Given the description of an element on the screen output the (x, y) to click on. 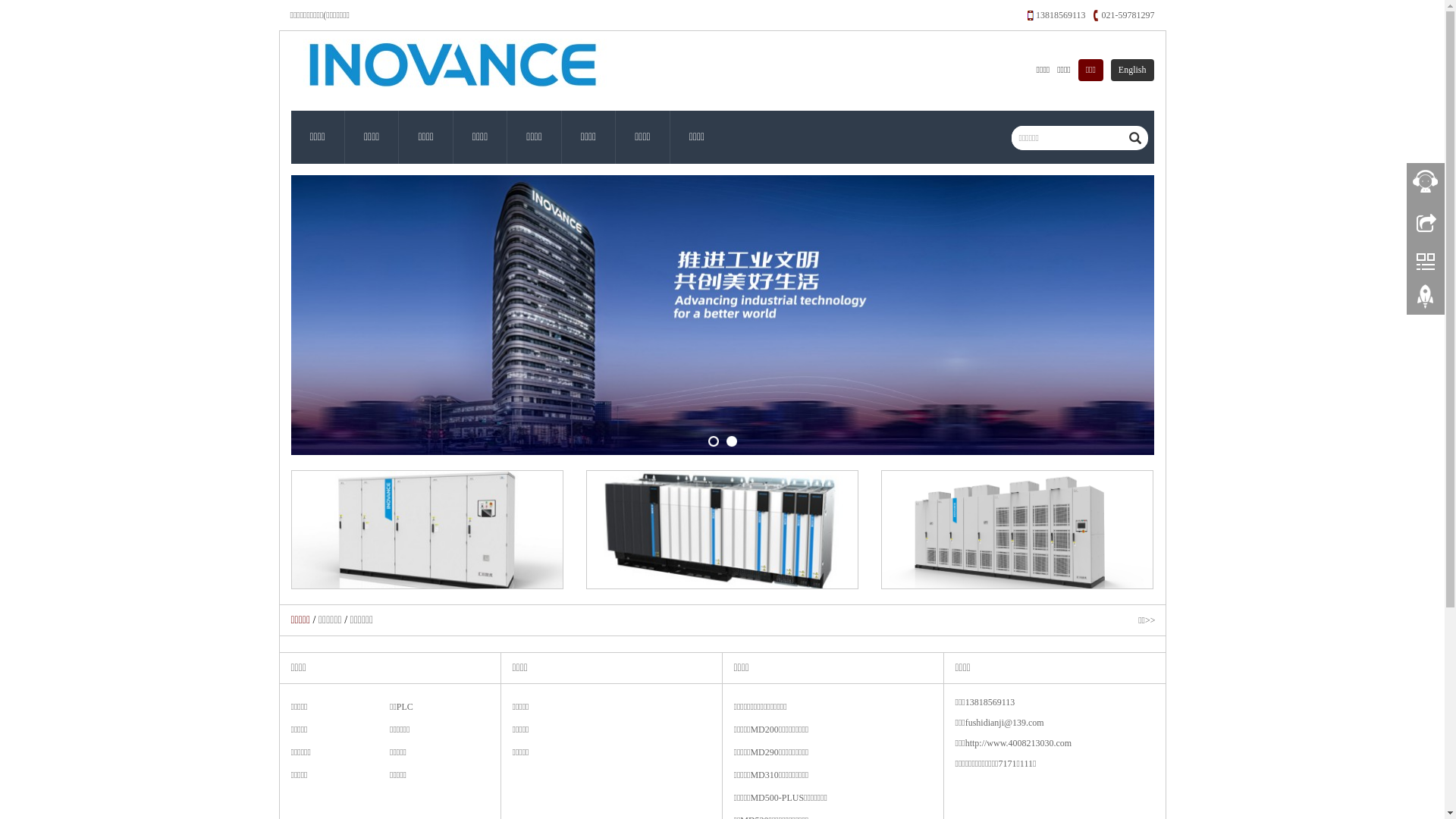
English Element type: text (1132, 70)
